Given the description of an element on the screen output the (x, y) to click on. 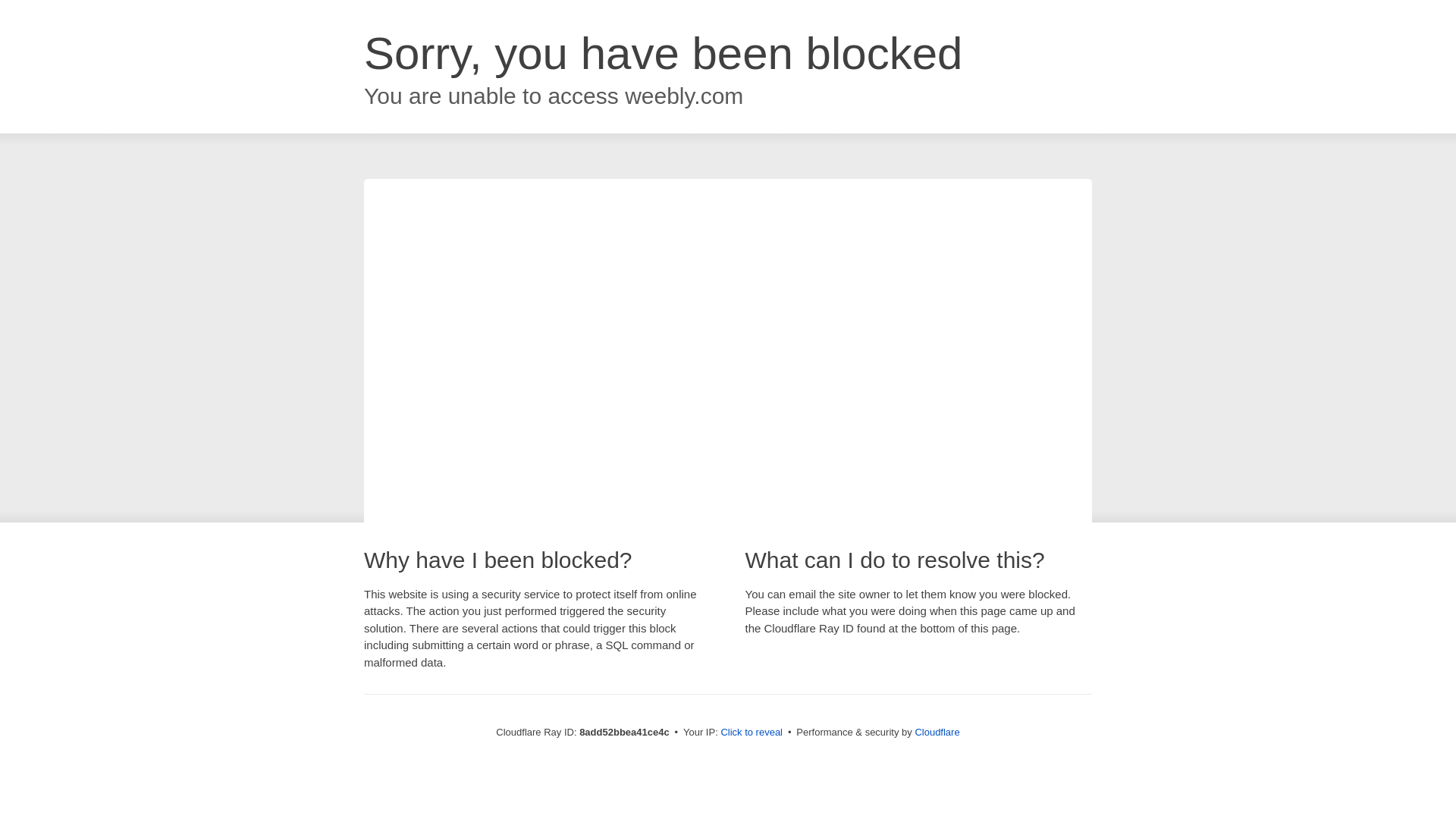
Click to reveal (751, 732)
Cloudflare (936, 731)
